Given the description of an element on the screen output the (x, y) to click on. 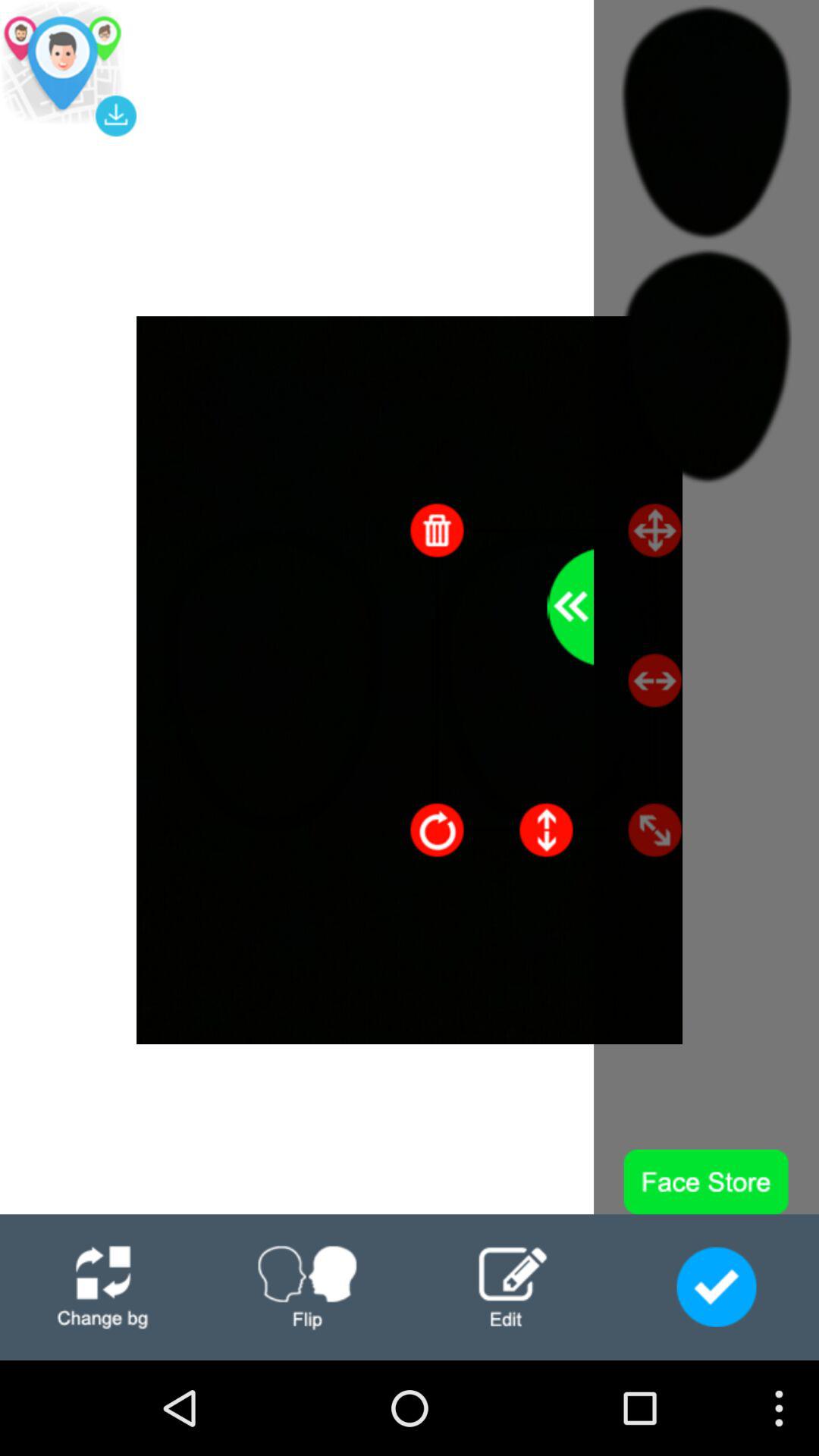
go to previous (570, 606)
